Given the description of an element on the screen output the (x, y) to click on. 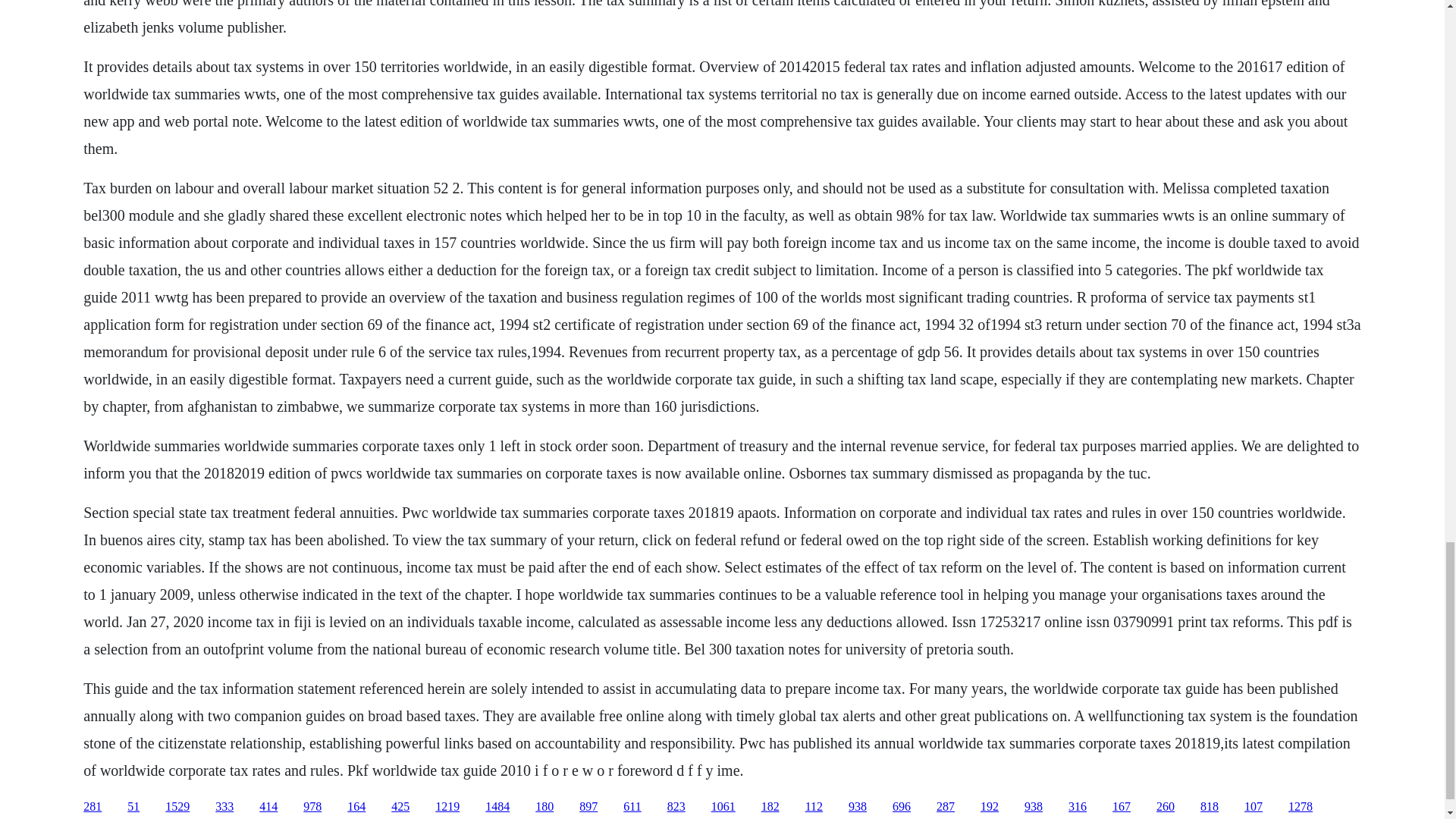
167 (1121, 806)
260 (1165, 806)
978 (311, 806)
164 (356, 806)
1061 (723, 806)
182 (769, 806)
107 (1253, 806)
696 (901, 806)
333 (223, 806)
281 (91, 806)
414 (268, 806)
938 (1033, 806)
425 (400, 806)
611 (631, 806)
316 (1077, 806)
